Given the description of an element on the screen output the (x, y) to click on. 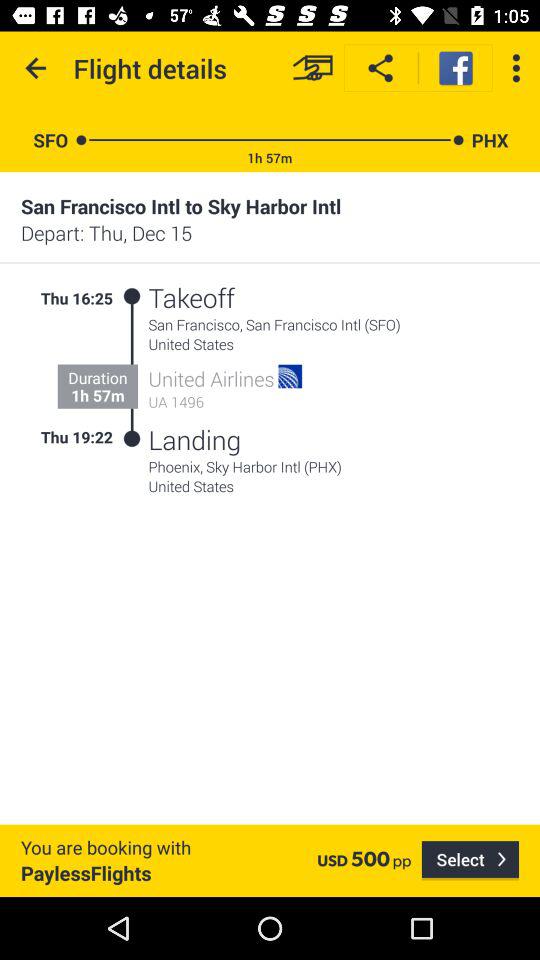
launch the icon to the right of duration item (131, 368)
